Given the description of an element on the screen output the (x, y) to click on. 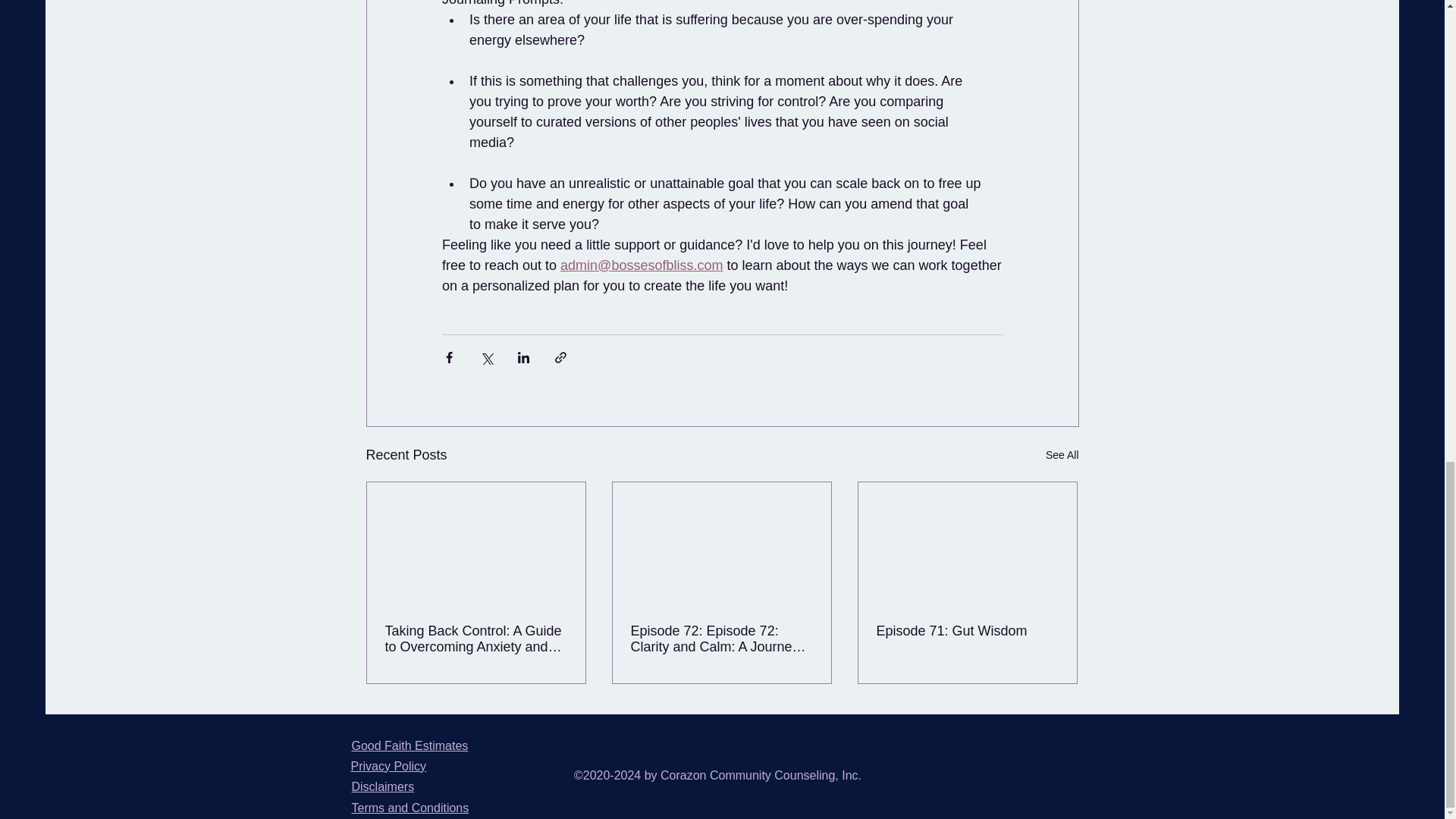
Disclaimers (383, 786)
Privacy Policy (388, 766)
Good Faith Estimates (410, 745)
Terms and Conditions (410, 807)
Episode 71: Gut Wisdom (967, 631)
See All (1061, 455)
